Given the description of an element on the screen output the (x, y) to click on. 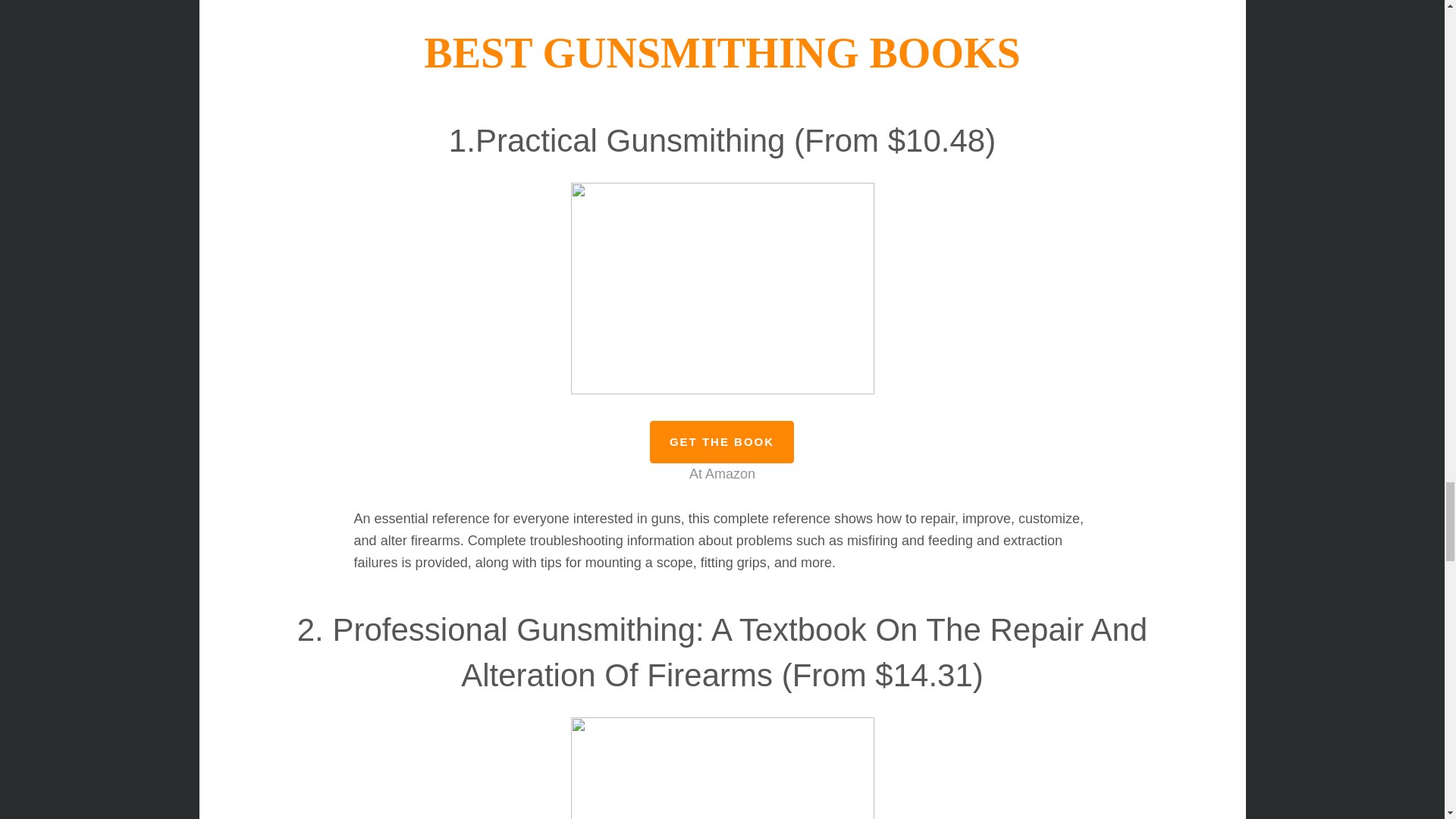
GET THE BOOK (721, 441)
